Given the description of an element on the screen output the (x, y) to click on. 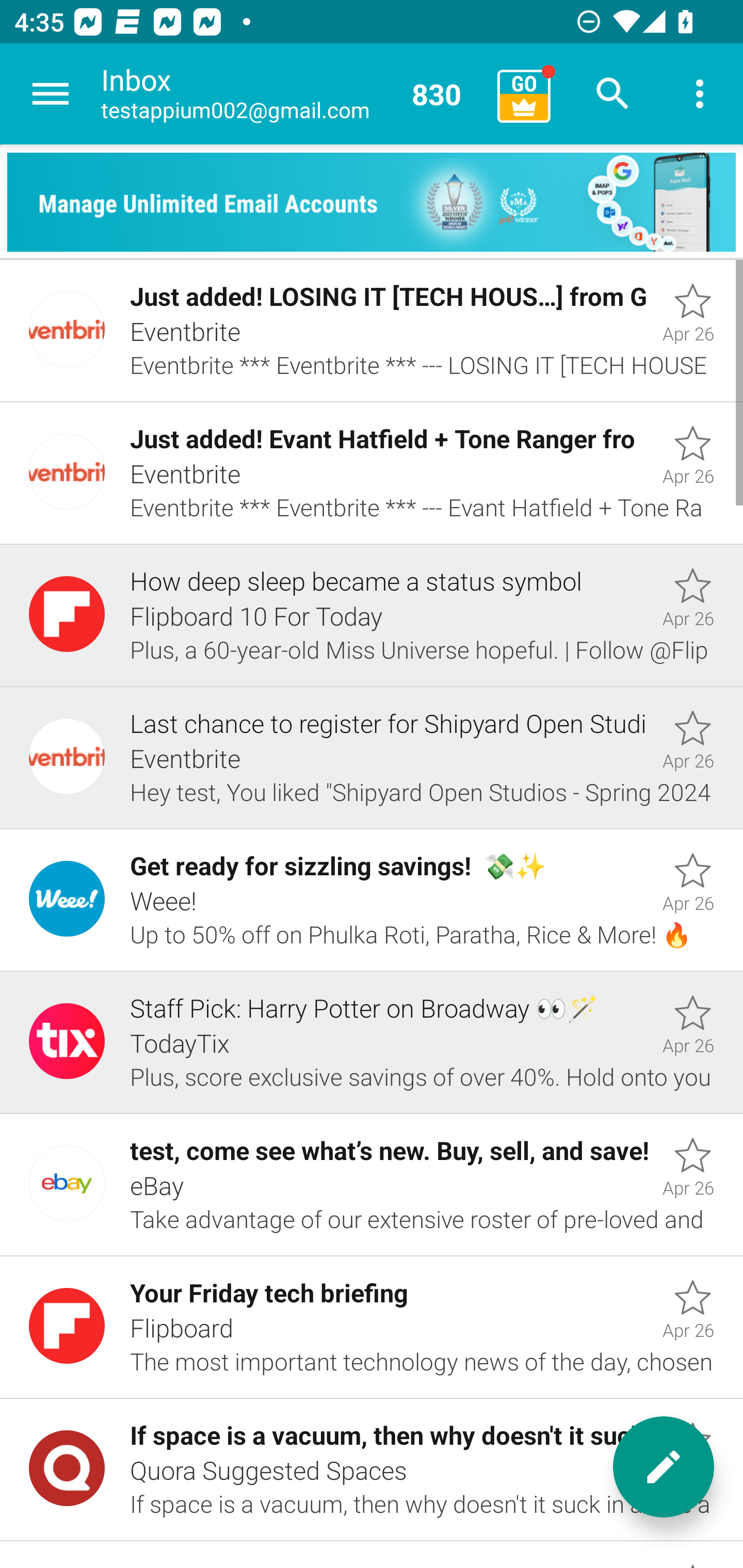
Navigate up (50, 93)
Inbox testappium002@gmail.com 830 (291, 93)
Search (612, 93)
More options (699, 93)
New message (663, 1466)
